Given the description of an element on the screen output the (x, y) to click on. 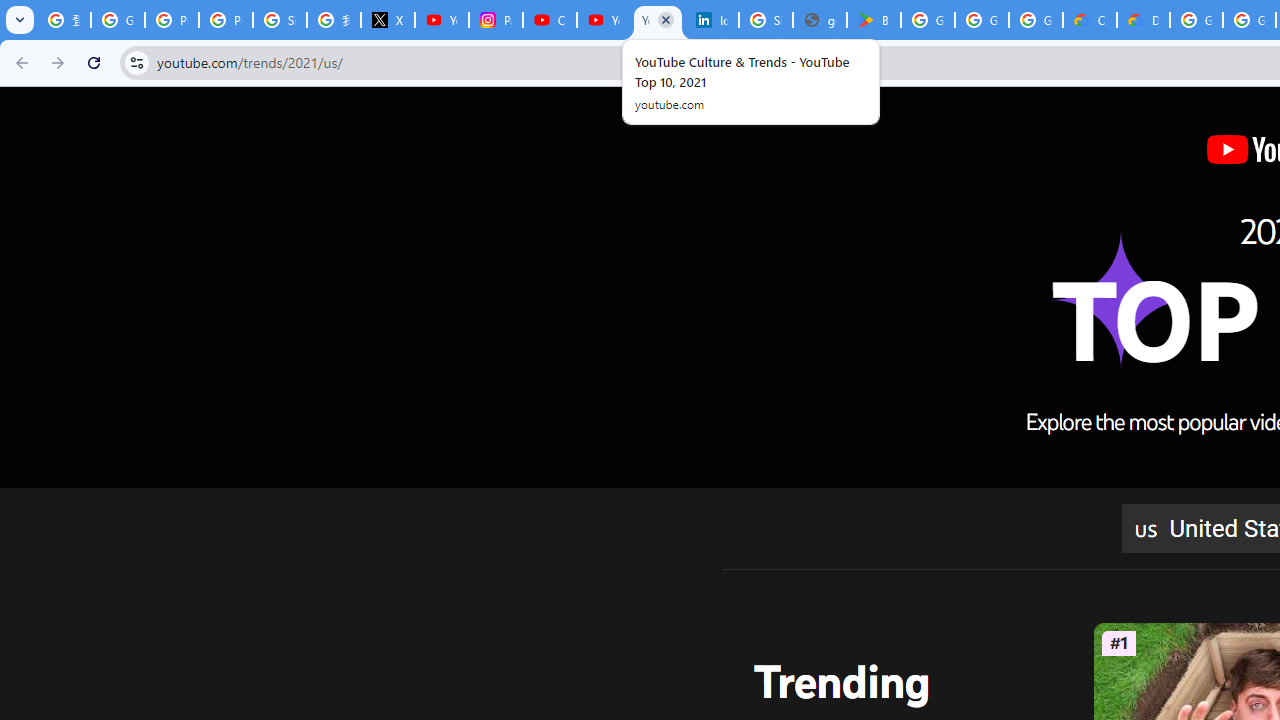
X (387, 20)
Google Workspace - Specific Terms (1035, 20)
Google Cloud Platform (1195, 20)
Identity verification via Persona | LinkedIn Help (711, 20)
Sign in - Google Accounts (280, 20)
YouTube Culture & Trends - YouTube Top 10, 2021 (657, 20)
Privacy Help Center - Policies Help (171, 20)
Sign in - Google Accounts (765, 20)
Customer Care | Google Cloud (1089, 20)
